Given the description of an element on the screen output the (x, y) to click on. 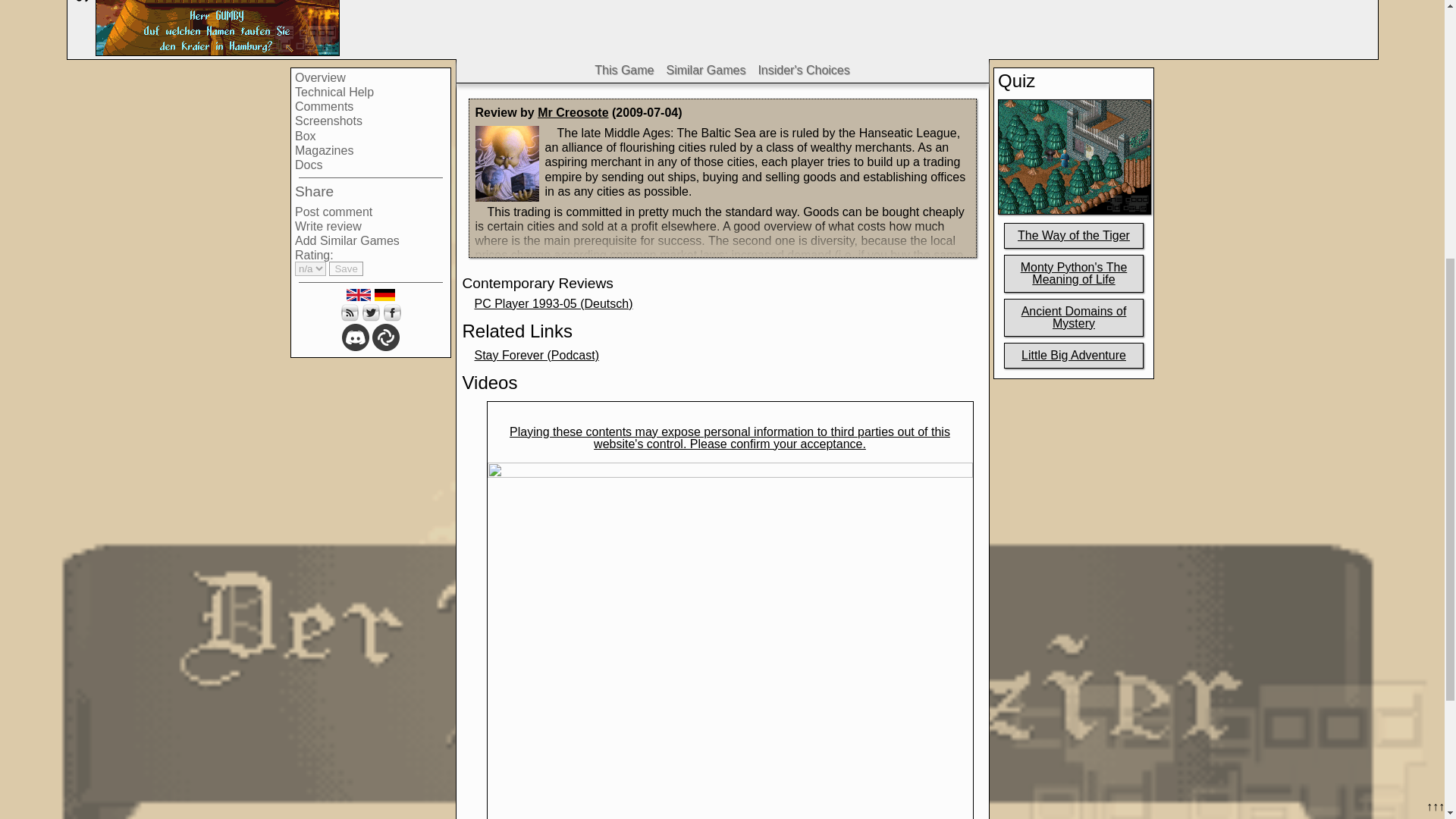
Mr Creosote (572, 112)
Facebook (391, 312)
RSS (349, 312)
Discord (355, 337)
Matrix (385, 337)
Twitter (370, 312)
Save (345, 268)
